Given the description of an element on the screen output the (x, y) to click on. 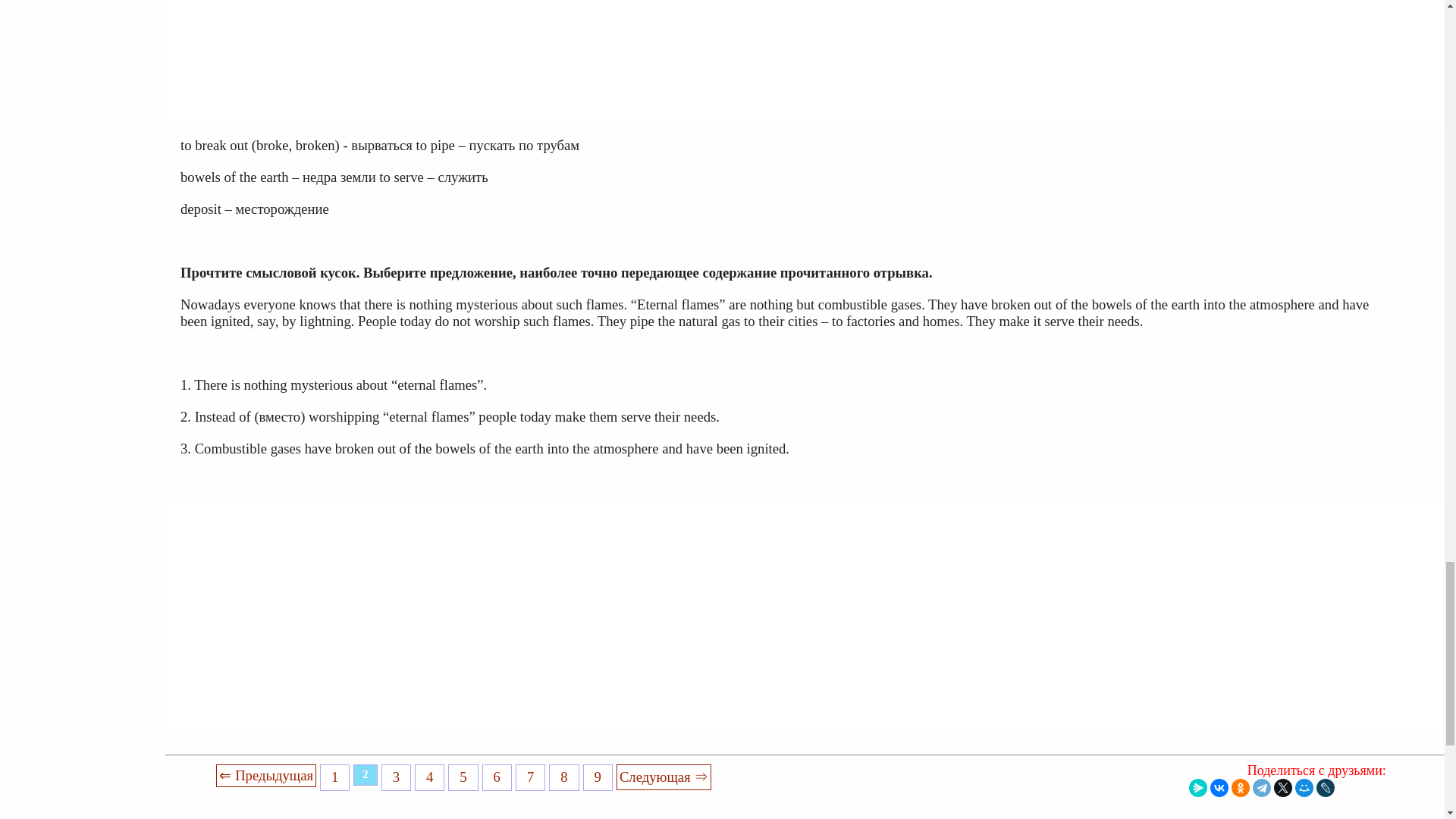
Telegram (1261, 787)
LiveJournal (1325, 787)
Twitter (1283, 787)
